Given the description of an element on the screen output the (x, y) to click on. 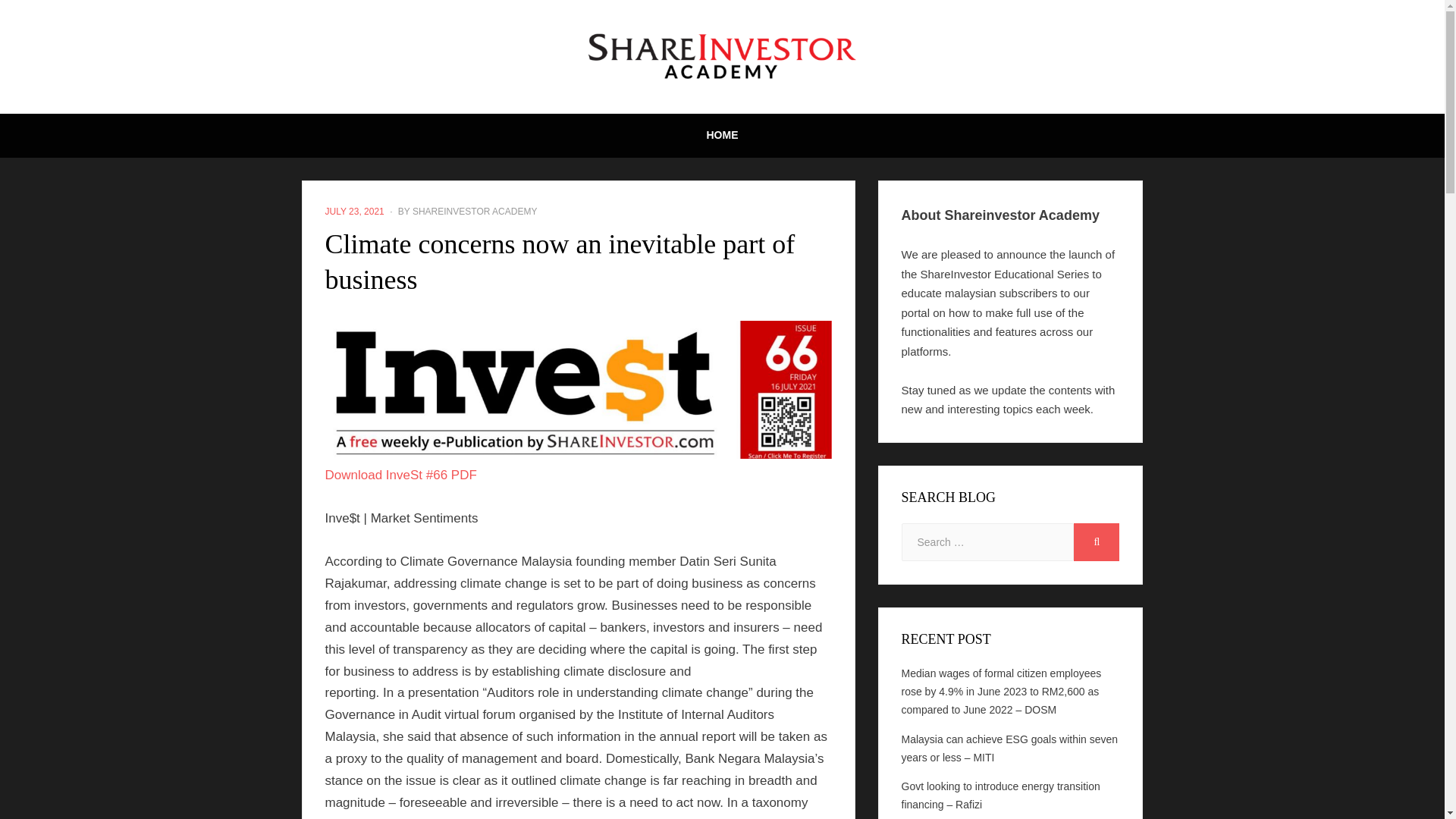
JULY 23, 2021 (354, 211)
SEARCH (1096, 542)
Search for: (987, 542)
ShareInvestor Academy Malaysia (957, 188)
SHAREINVESTOR ACADEMY (474, 211)
SHAREINVESTOR ACADEMY MALAYSIA (957, 188)
HOME (722, 135)
